Given the description of an element on the screen output the (x, y) to click on. 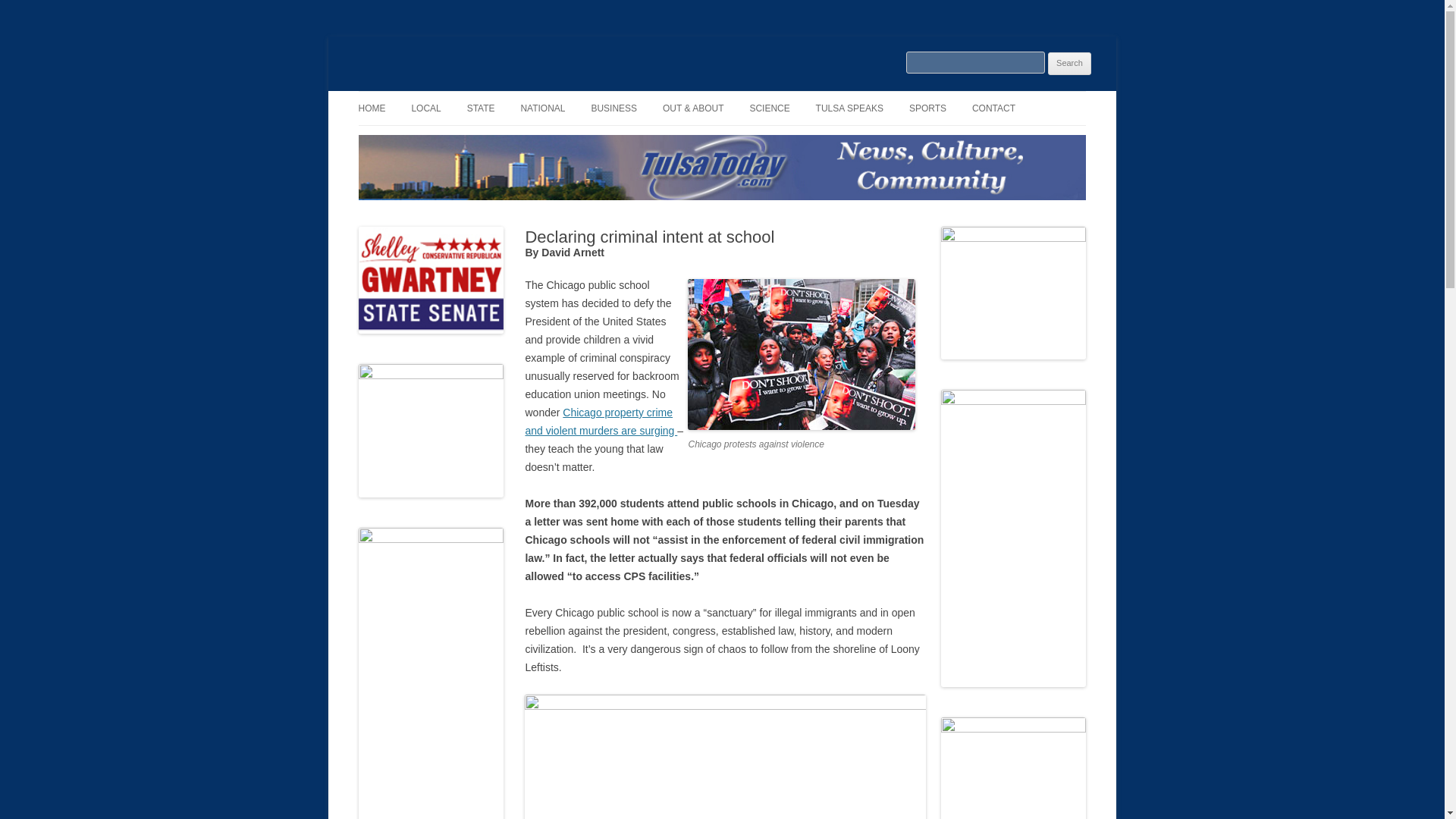
Search (1069, 63)
BUSINESS (614, 108)
NATIONAL (541, 108)
Search (1069, 63)
SCIENCE (769, 108)
Chicago property crime and violent murders are surging (600, 421)
TULSA SPEAKS (849, 108)
CONTACT (993, 108)
Skip to content (757, 95)
SPORTS (927, 108)
